Given the description of an element on the screen output the (x, y) to click on. 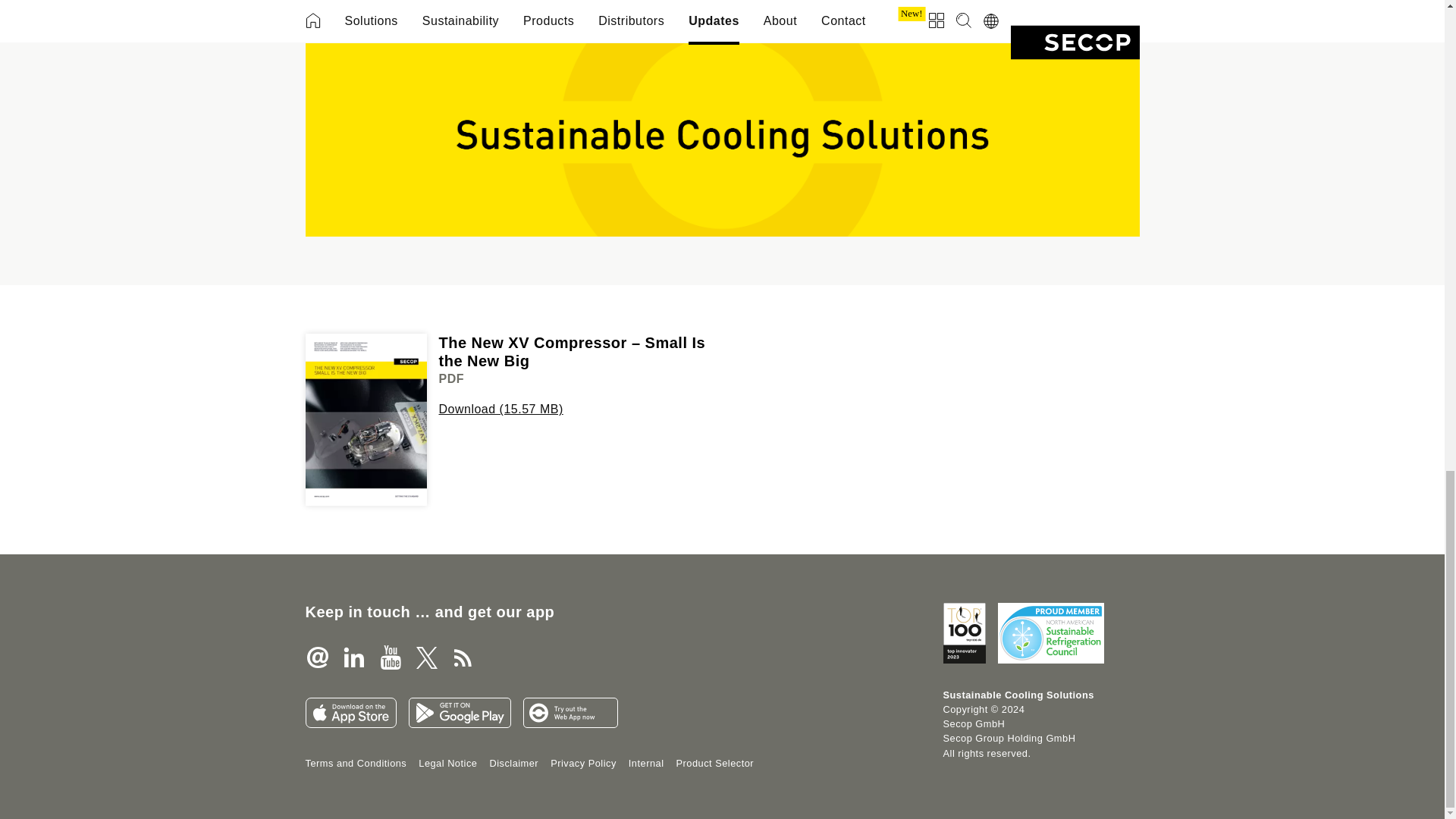
LinkedIn (352, 657)
Secop Toolkit in Apple App Store (350, 712)
Secop Toolkit in Google Play Store (459, 712)
Newsletter (316, 657)
RSS (461, 657)
X (425, 657)
YouTube (389, 657)
Secop Toolkit Web App (569, 712)
